Given the description of an element on the screen output the (x, y) to click on. 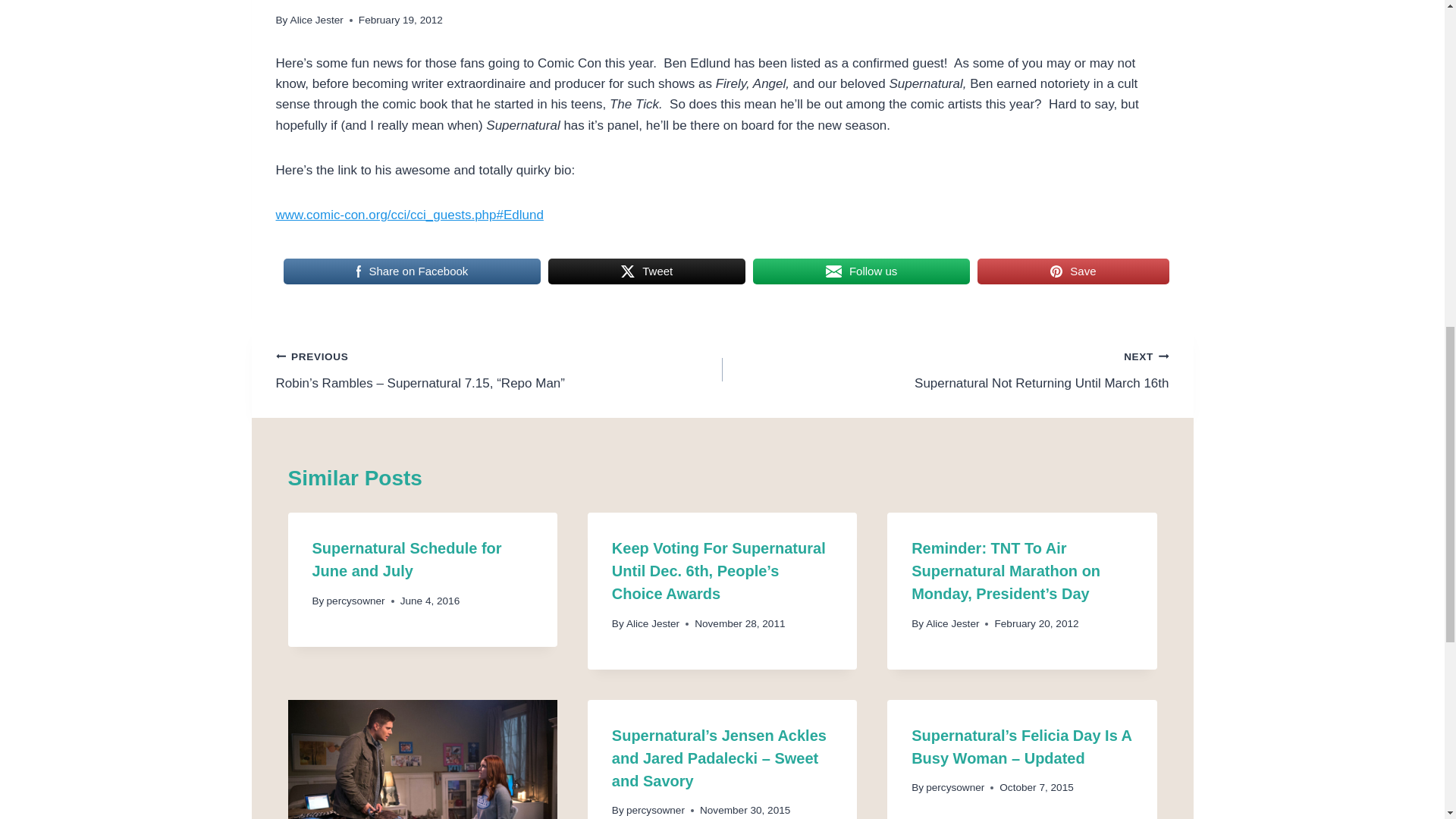
Supernatural Schedule for June and July (407, 559)
Follow us (860, 271)
Save (1072, 271)
Share on Facebook (945, 369)
Alice Jester (412, 271)
Tweet (316, 19)
percysowner (646, 271)
